Given the description of an element on the screen output the (x, y) to click on. 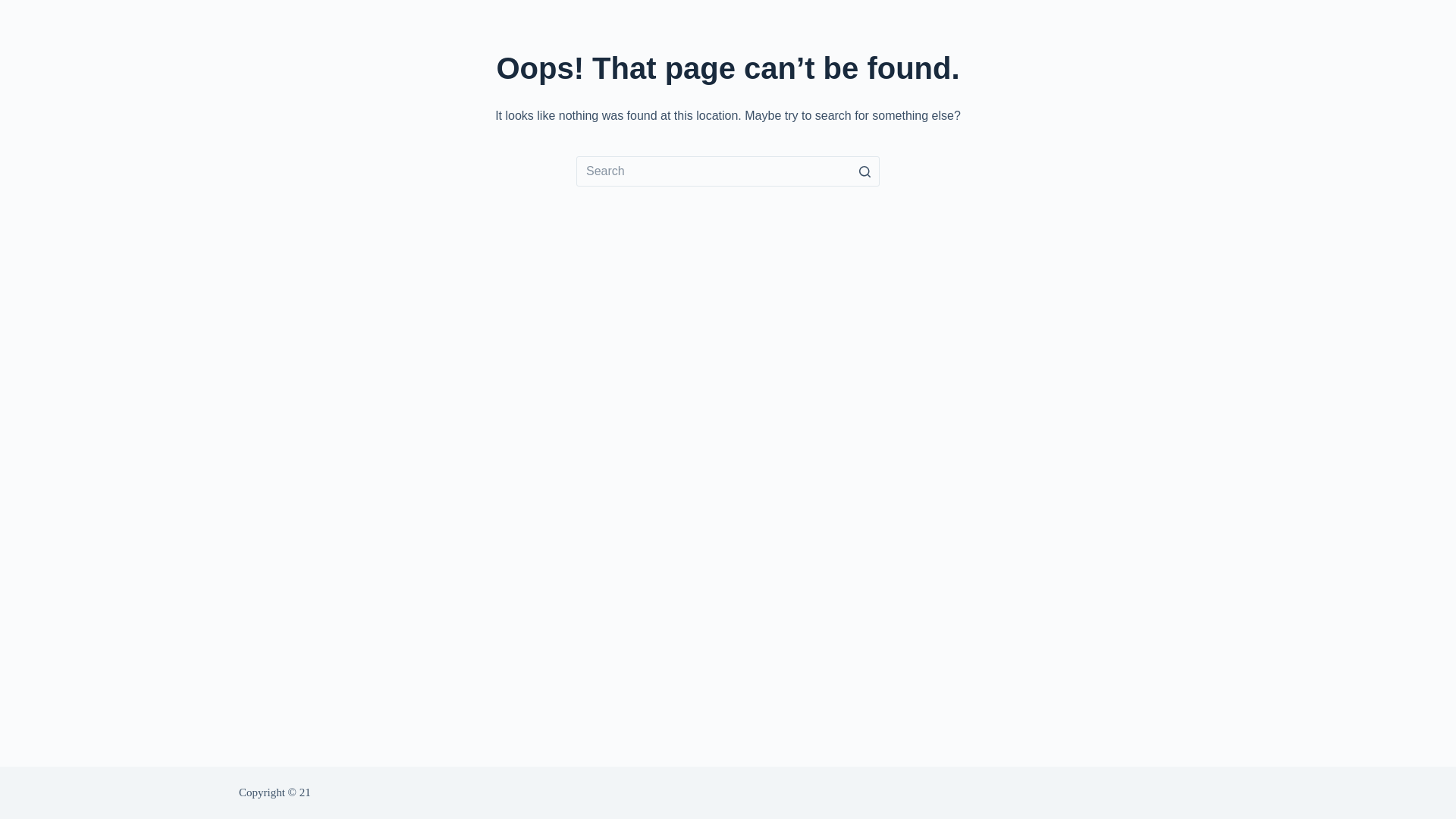
Skip to content Element type: text (15, 7)
Search for... Element type: hover (727, 171)
